Given the description of an element on the screen output the (x, y) to click on. 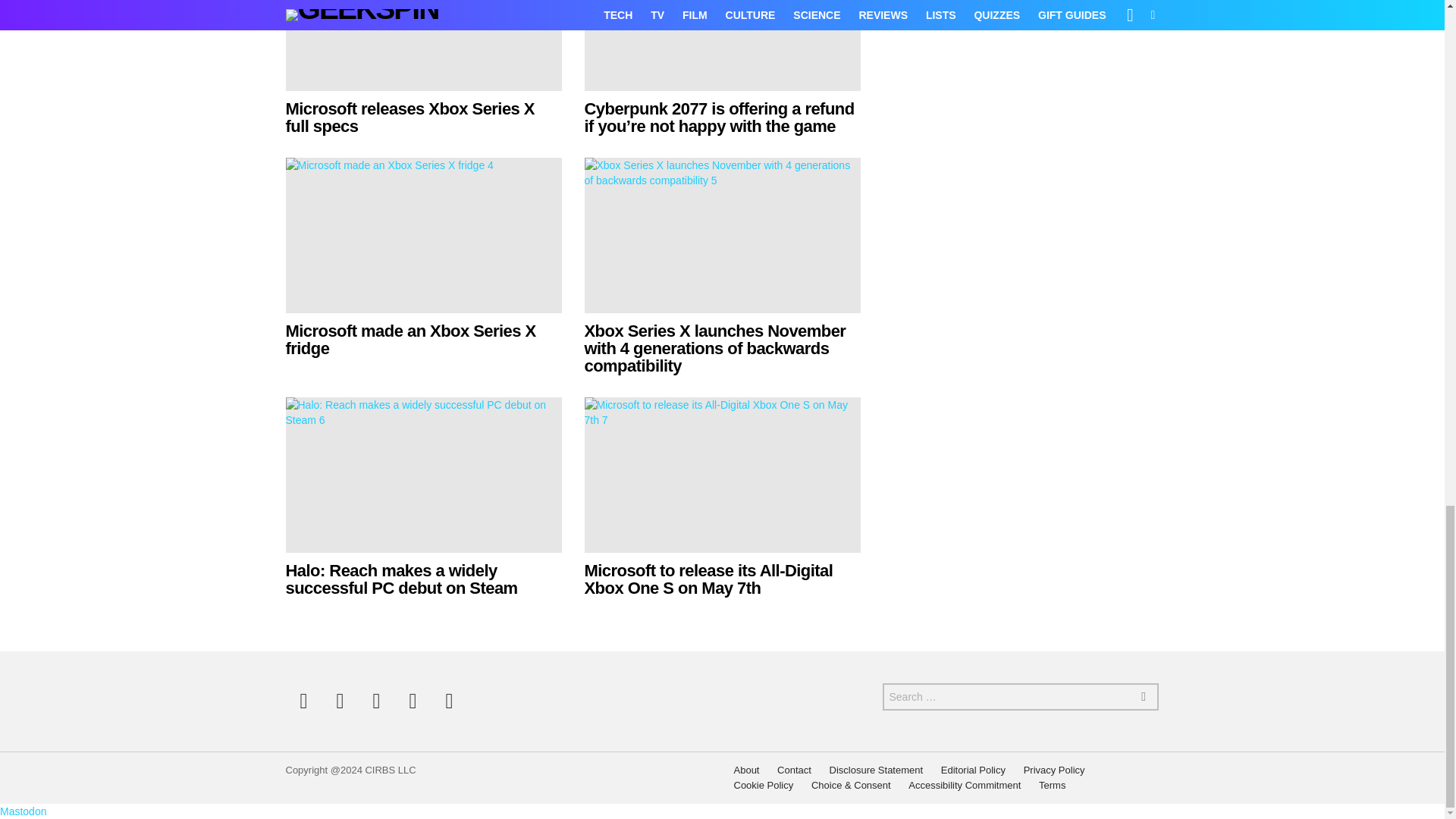
Microsoft made an Xbox Series X fridge (410, 339)
Twitter (339, 701)
Facebook (303, 701)
Microsoft to release its All-Digital Xbox One S on May 7th (707, 579)
Microsoft made an Xbox Series X fridge (422, 235)
Halo: Reach makes a widely successful PC debut on Steam (400, 579)
Microsoft to release its All-Digital Xbox One S on May 7th (721, 474)
instagram (376, 701)
